Given the description of an element on the screen output the (x, y) to click on. 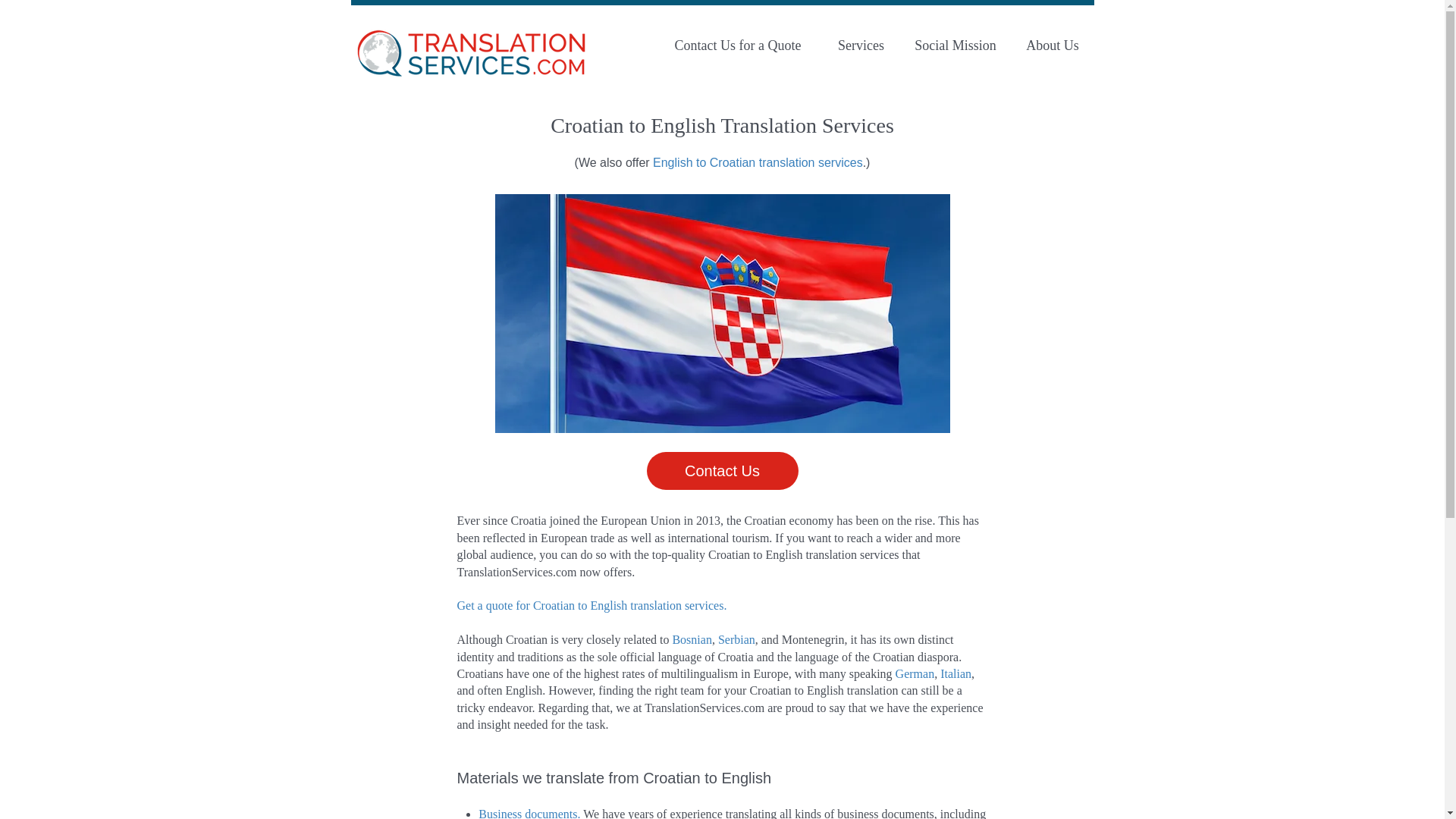
Italian (955, 673)
German (914, 673)
About Us (1051, 45)
Serbian (736, 639)
English to Croatian translation services (757, 162)
Services (860, 45)
Contact Us (721, 470)
Get a quote for Croatian to English translation services. (591, 604)
Business documents. (531, 813)
Social Mission (954, 45)
Contact Us for a Quote (737, 45)
Bosnian (691, 639)
